Given the description of an element on the screen output the (x, y) to click on. 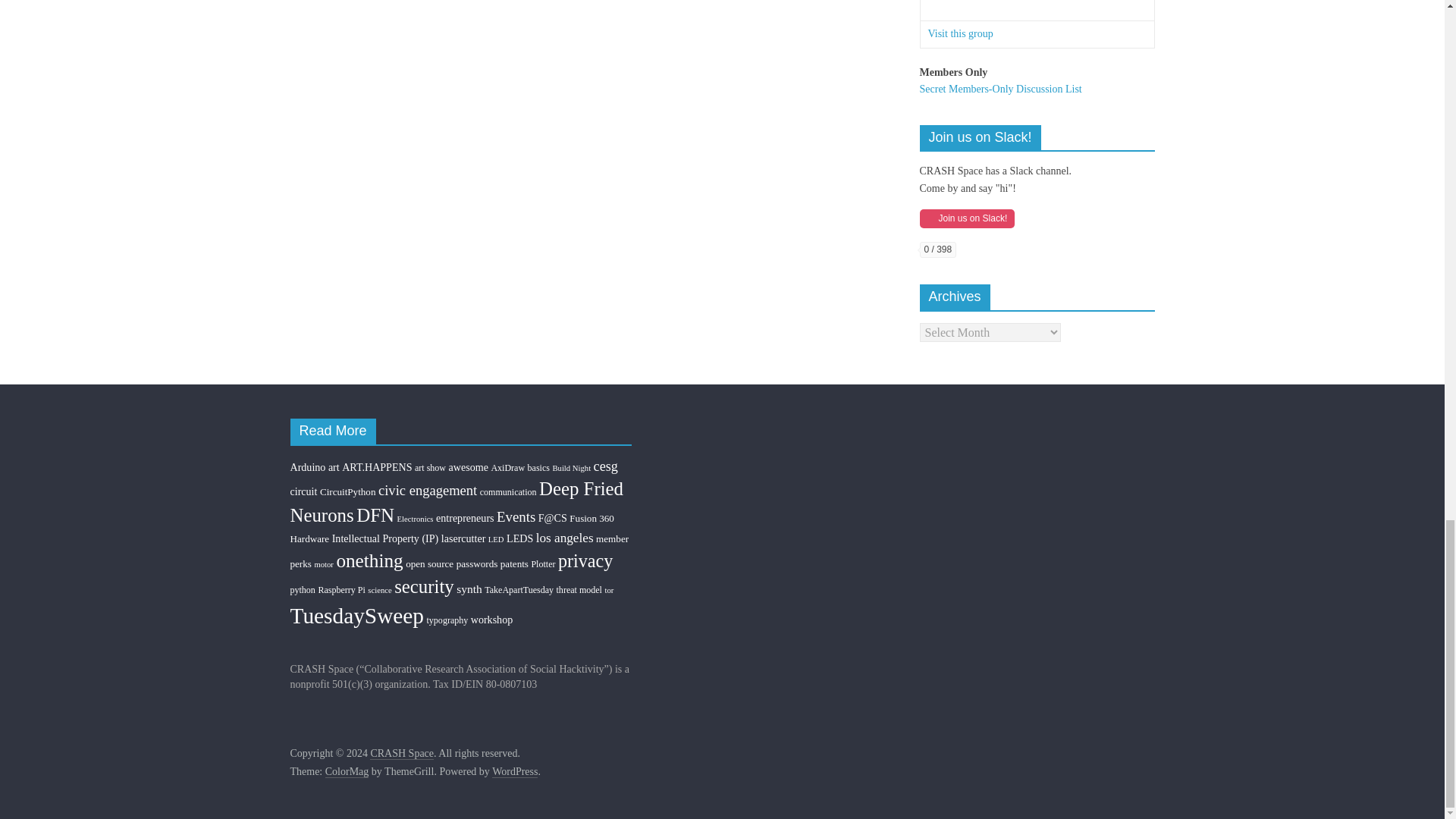
ColorMag (346, 771)
CRASH Space (401, 753)
WordPress (514, 771)
